Given the description of an element on the screen output the (x, y) to click on. 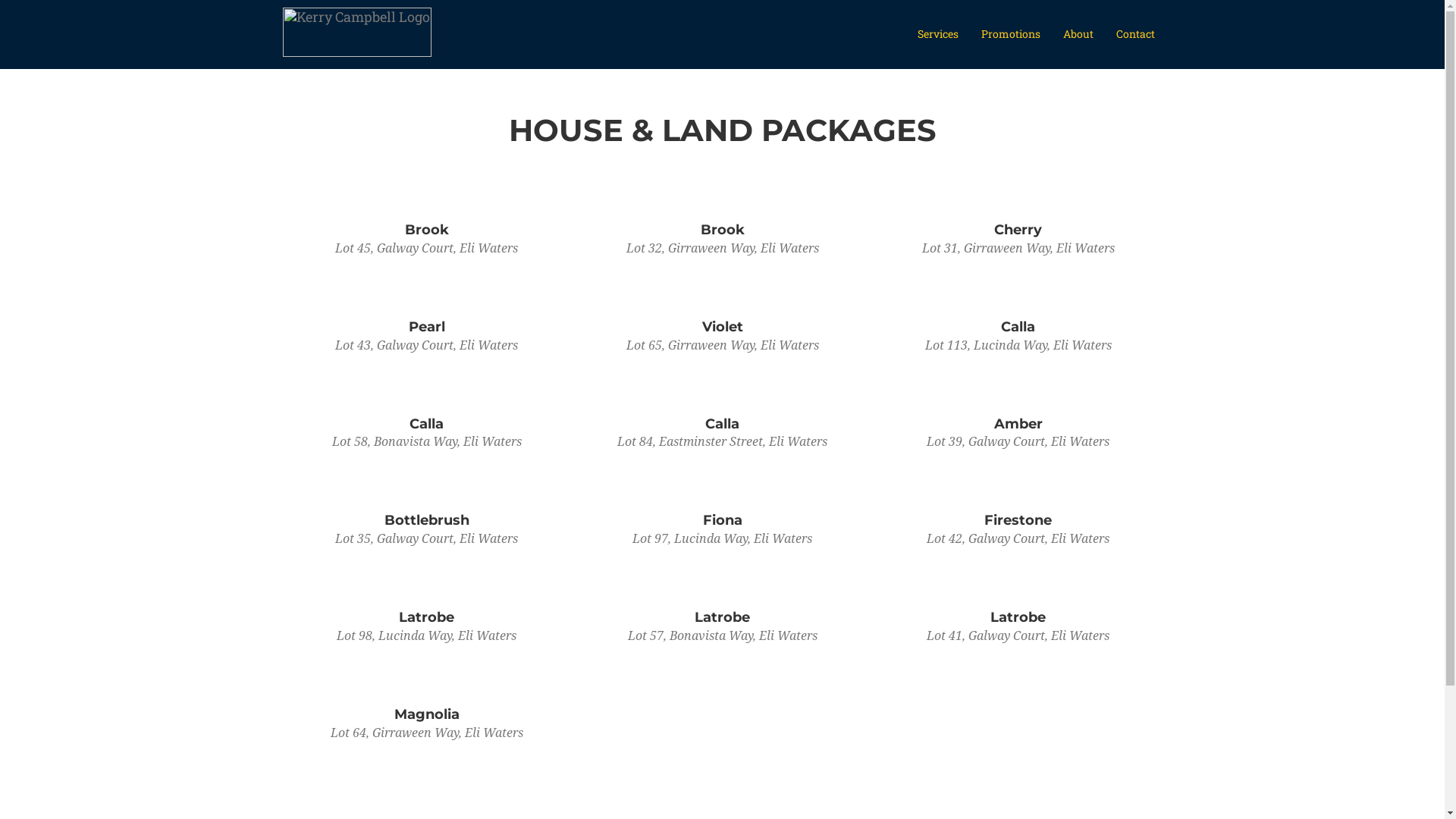
Contact Element type: text (1134, 33)
About Element type: text (1077, 33)
Promotions Element type: text (1010, 33)
Services Element type: text (937, 33)
